Given the description of an element on the screen output the (x, y) to click on. 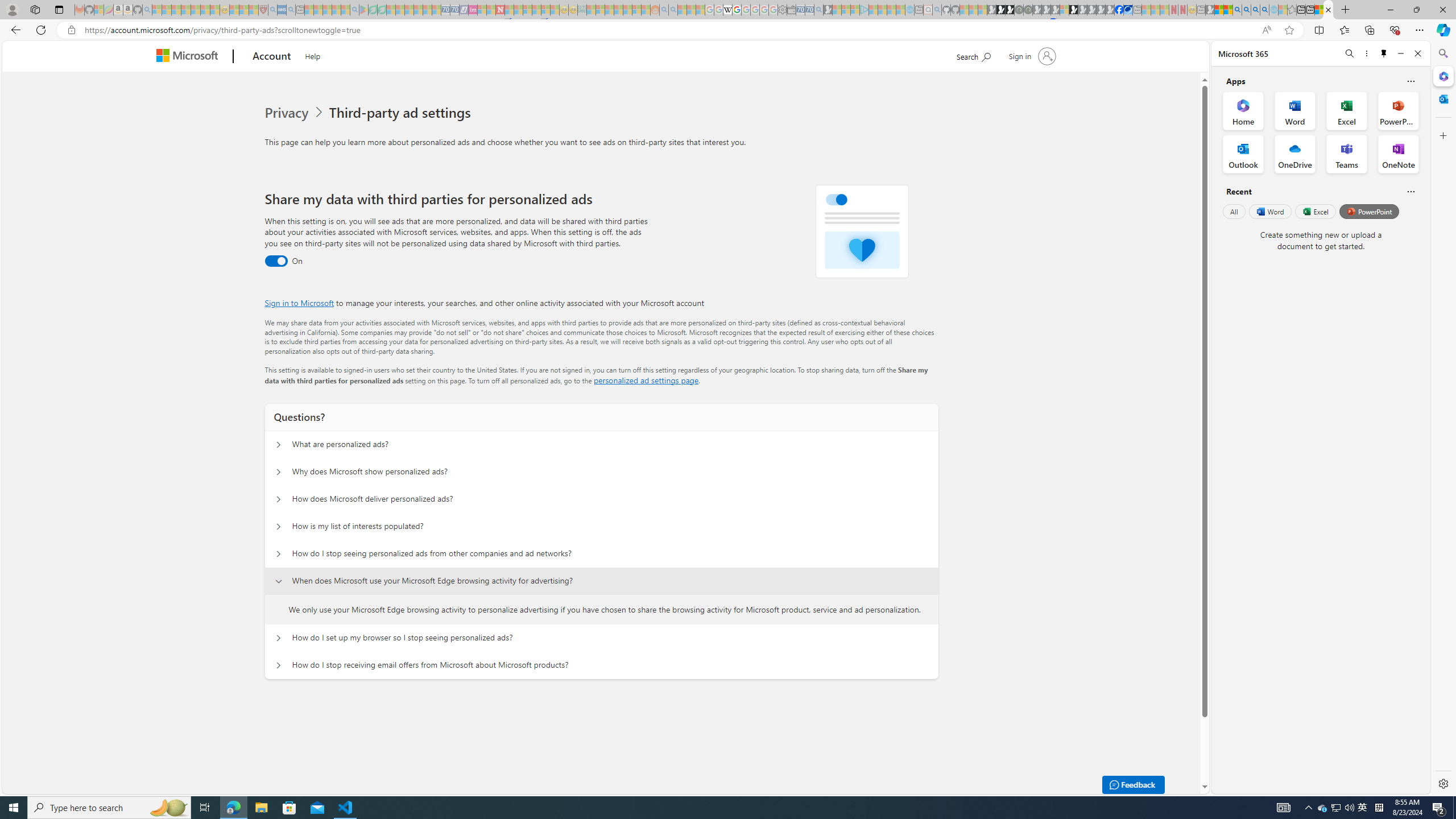
github - Search - Sleeping (936, 9)
Pets - MSN - Sleeping (336, 9)
Microsoft (189, 56)
Bing Real Estate - Home sales and rental listings - Sleeping (818, 9)
Outlook Office App (1243, 154)
